Given the description of an element on the screen output the (x, y) to click on. 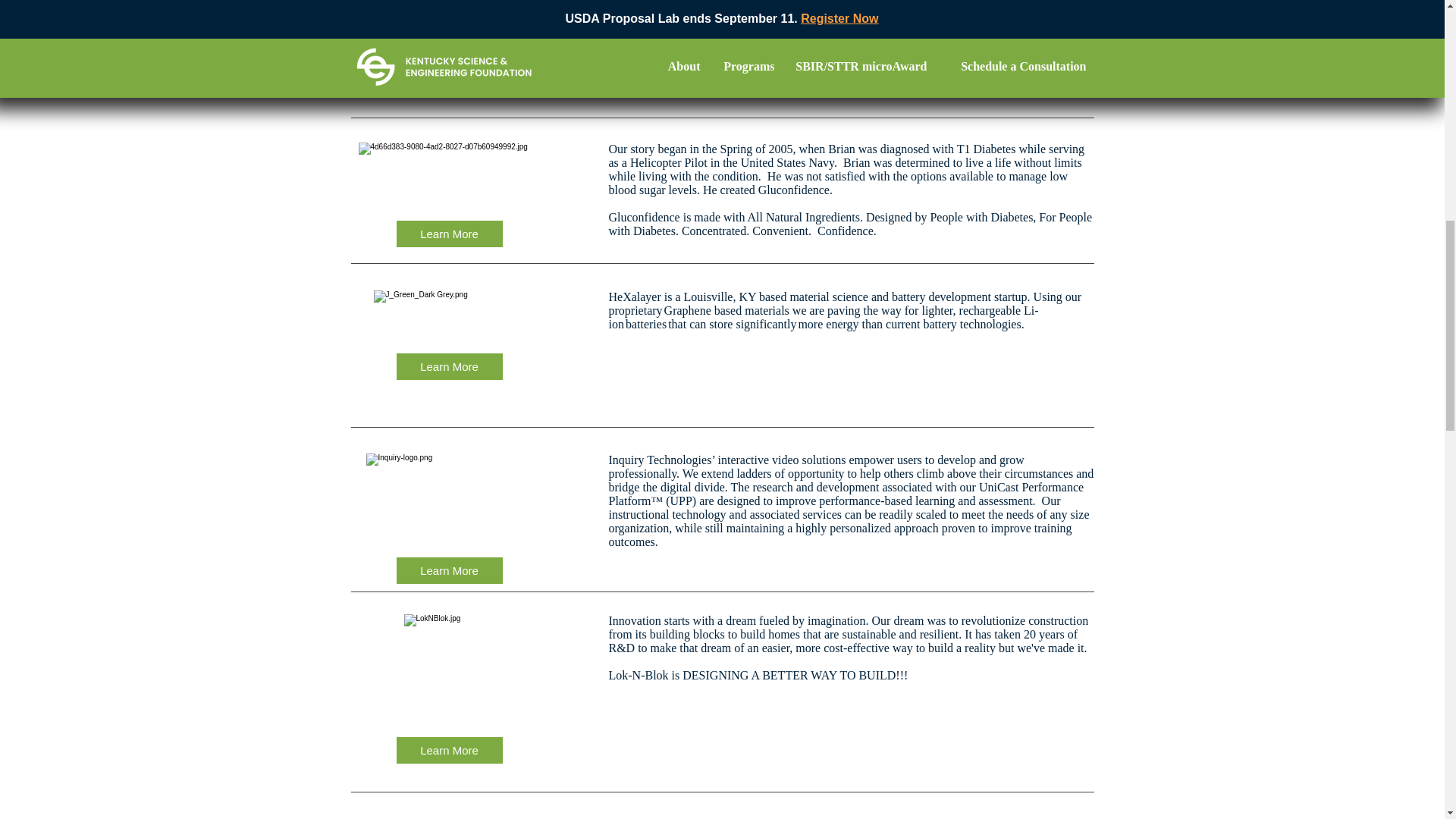
Learn More (449, 570)
Learn More (449, 233)
Learn More (449, 750)
Learn More (449, 76)
Learn More (449, 366)
